Given the description of an element on the screen output the (x, y) to click on. 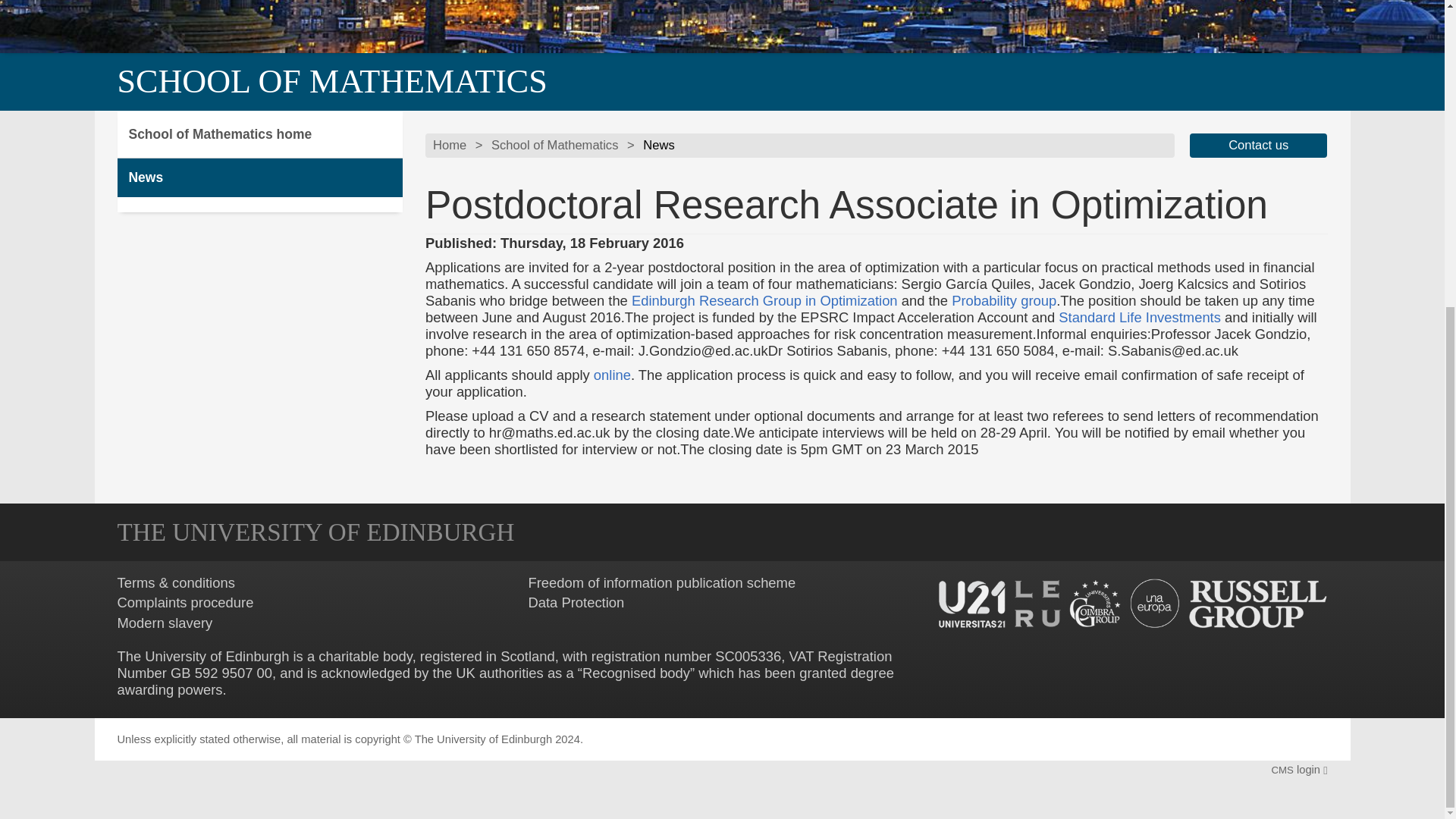
Freedom of information publication scheme (660, 582)
School of Mathematics (554, 145)
Probability group (1004, 300)
Standard Life Investments (1139, 317)
CMS login (1298, 769)
Contact us (1258, 145)
News (259, 177)
Edinburgh Research Group in Optimization (764, 300)
online (612, 374)
Data Protection (575, 602)
